Given the description of an element on the screen output the (x, y) to click on. 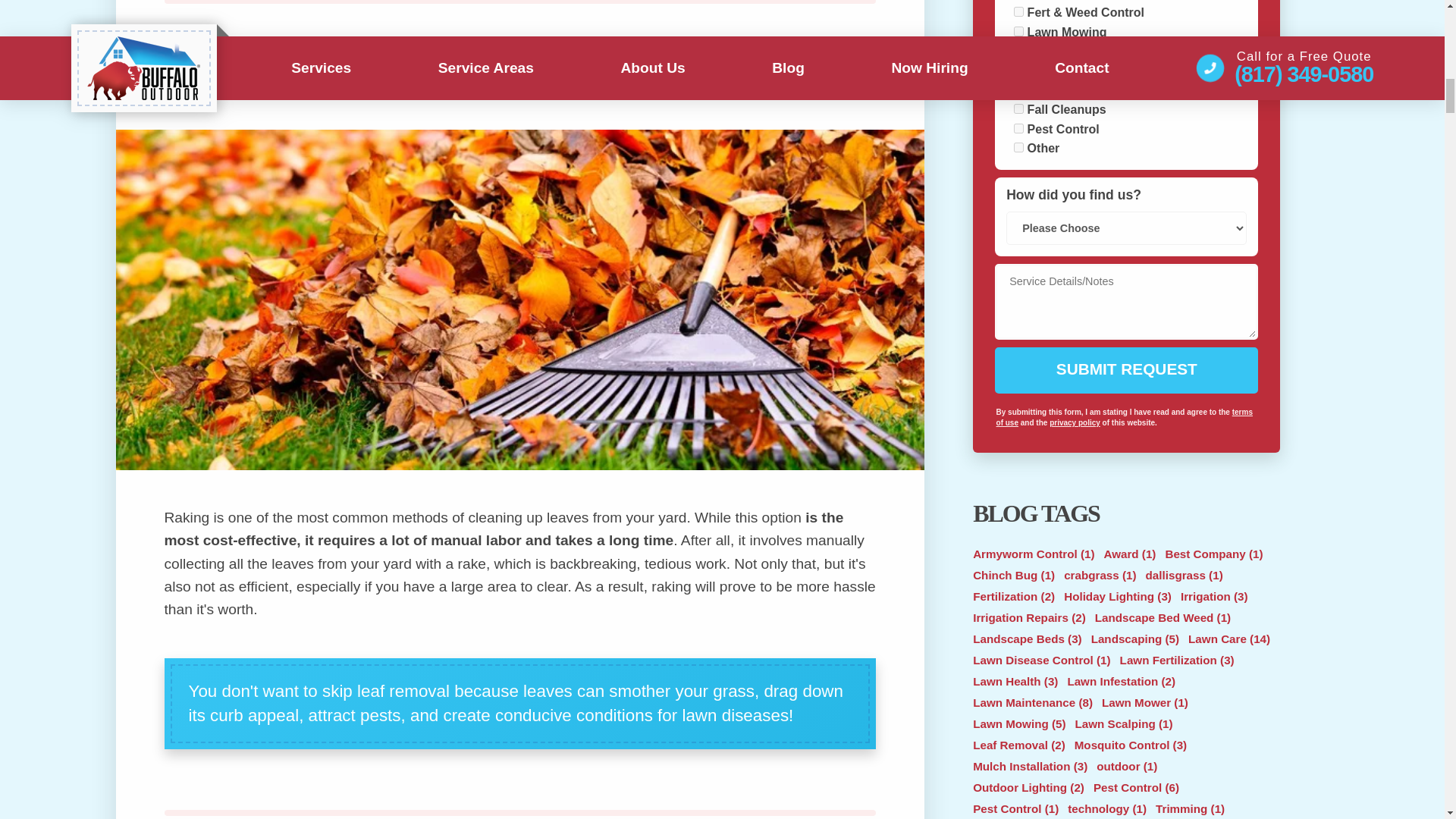
Fall Cleanups (1018, 108)
Trimming (1018, 50)
Other (1018, 147)
Mulch Installs (1018, 70)
Leaf Removals (1018, 90)
Pest Control (1018, 128)
Lawn Mowing (1018, 31)
